Given the description of an element on the screen output the (x, y) to click on. 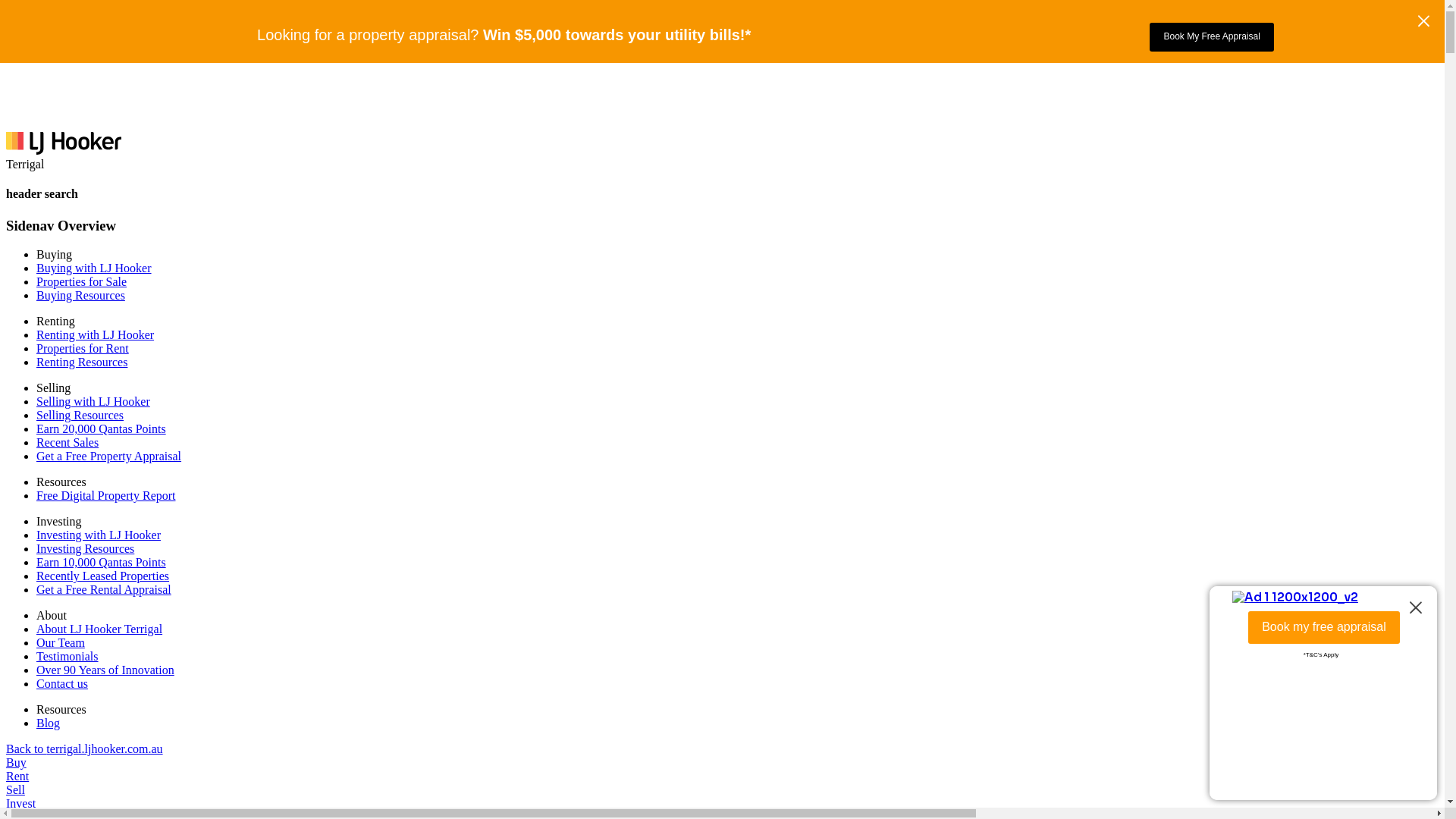
Investing Resources Element type: text (85, 548)
Buy Element type: text (16, 762)
Recent Sales Element type: text (67, 442)
Over 90 Years of Innovation Element type: text (105, 669)
Properties for Rent Element type: text (82, 348)
Buying Resources Element type: text (80, 294)
Investing with LJ Hooker Element type: text (98, 534)
Earn 20,000 Qantas Points Element type: text (101, 428)
Blog Element type: text (47, 722)
About LJ Hooker Terrigal Element type: text (99, 628)
Rent Element type: text (17, 775)
Selling with LJ Hooker Element type: text (93, 401)
Our Team Element type: text (60, 642)
Get a Free Property Appraisal Element type: text (108, 455)
Contact us Element type: text (61, 683)
Recently Leased Properties Element type: text (102, 575)
Free Digital Property Report Element type: text (105, 495)
Back to terrigal.ljhooker.com.au Element type: text (84, 748)
Get a Free Rental Appraisal Element type: text (103, 589)
Buying with LJ Hooker Element type: text (93, 267)
Renting Resources Element type: text (81, 361)
Properties for Sale Element type: text (81, 281)
Sell Element type: text (15, 789)
Testimonials Element type: text (67, 655)
Renting with LJ Hooker Element type: text (94, 334)
Selling Resources Element type: text (79, 414)
Invest Element type: text (20, 803)
Earn 10,000 Qantas Points Element type: text (101, 561)
